Given the description of an element on the screen output the (x, y) to click on. 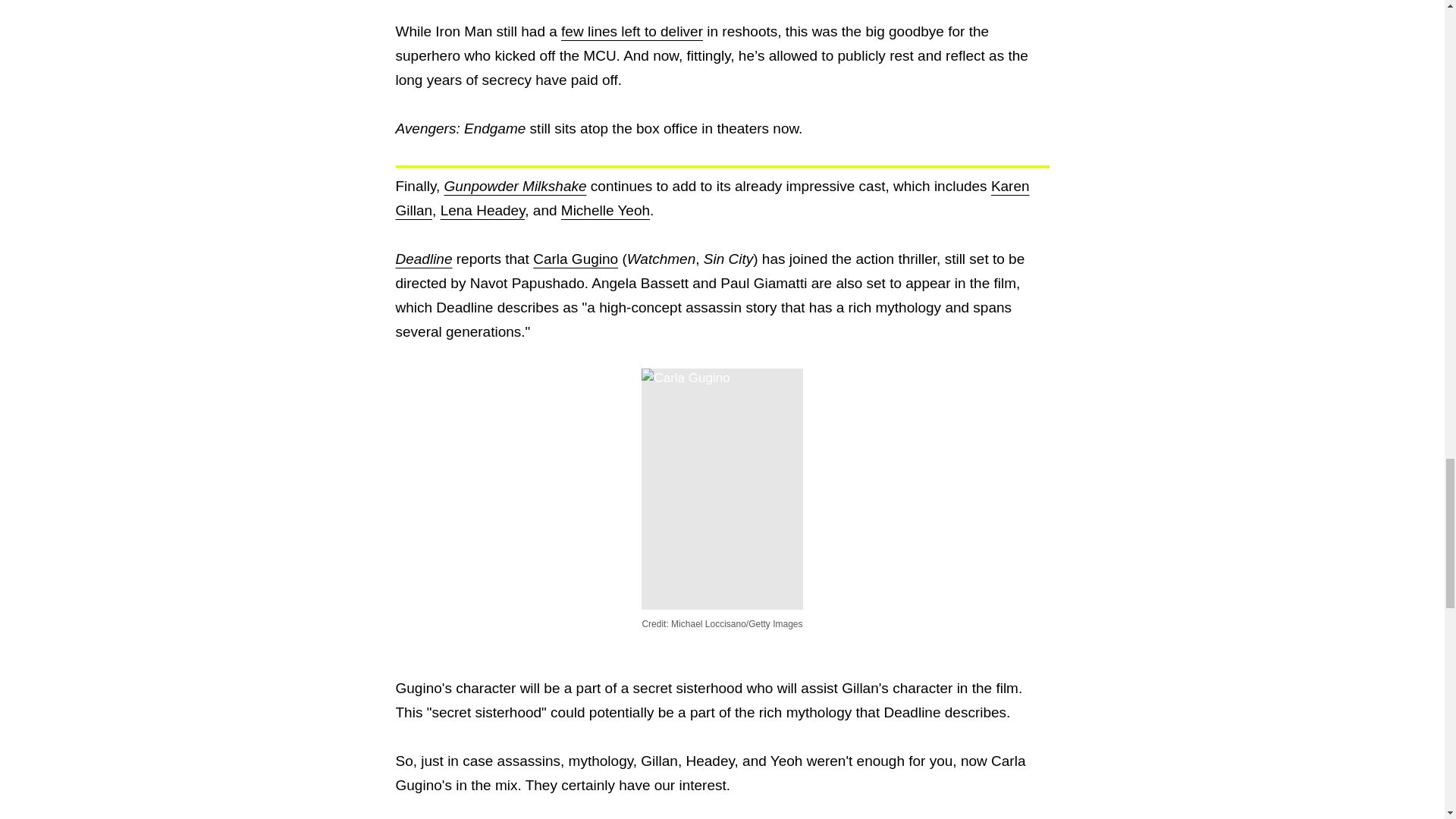
Lena Headey (483, 210)
Gunpowder Milkshake (515, 186)
few lines left to deliver (631, 31)
Karen Gillan (712, 198)
